Given the description of an element on the screen output the (x, y) to click on. 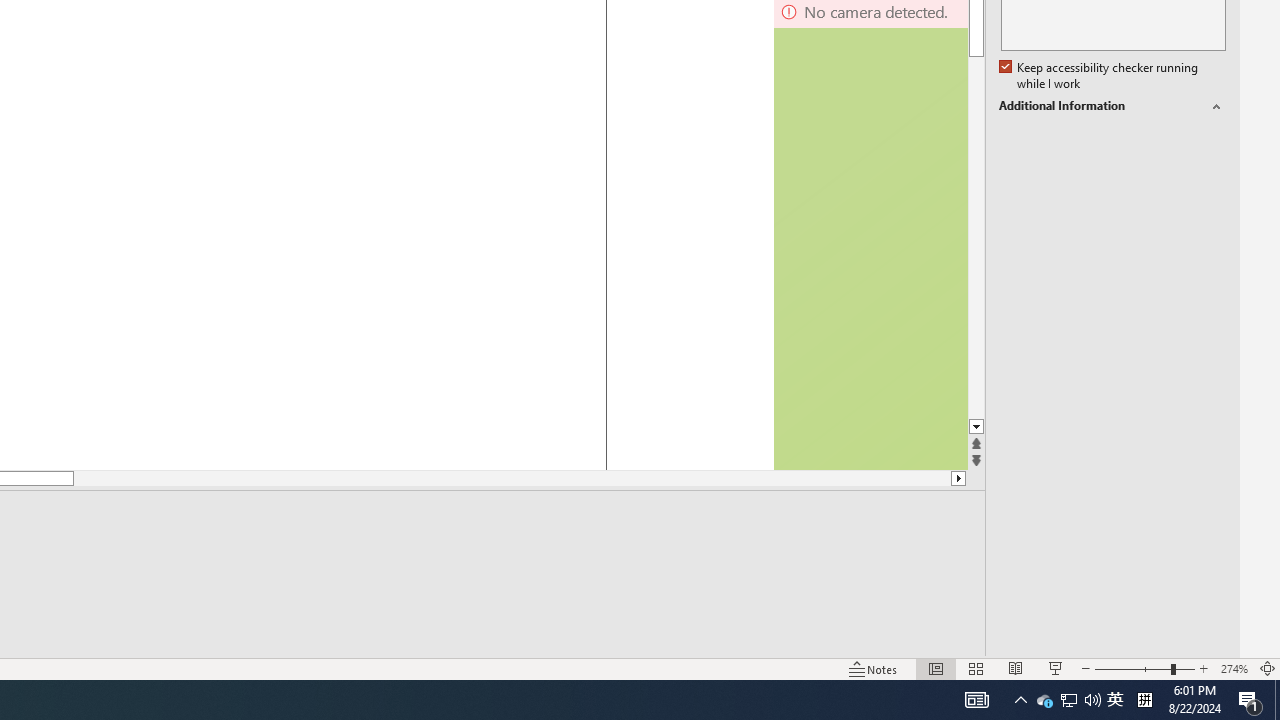
Line down (976, 427)
Notes  (874, 668)
Page down (976, 237)
Additional Information (1112, 106)
Keep accessibility checker running while I work (1099, 76)
Zoom 274% (1234, 668)
